Given the description of an element on the screen output the (x, y) to click on. 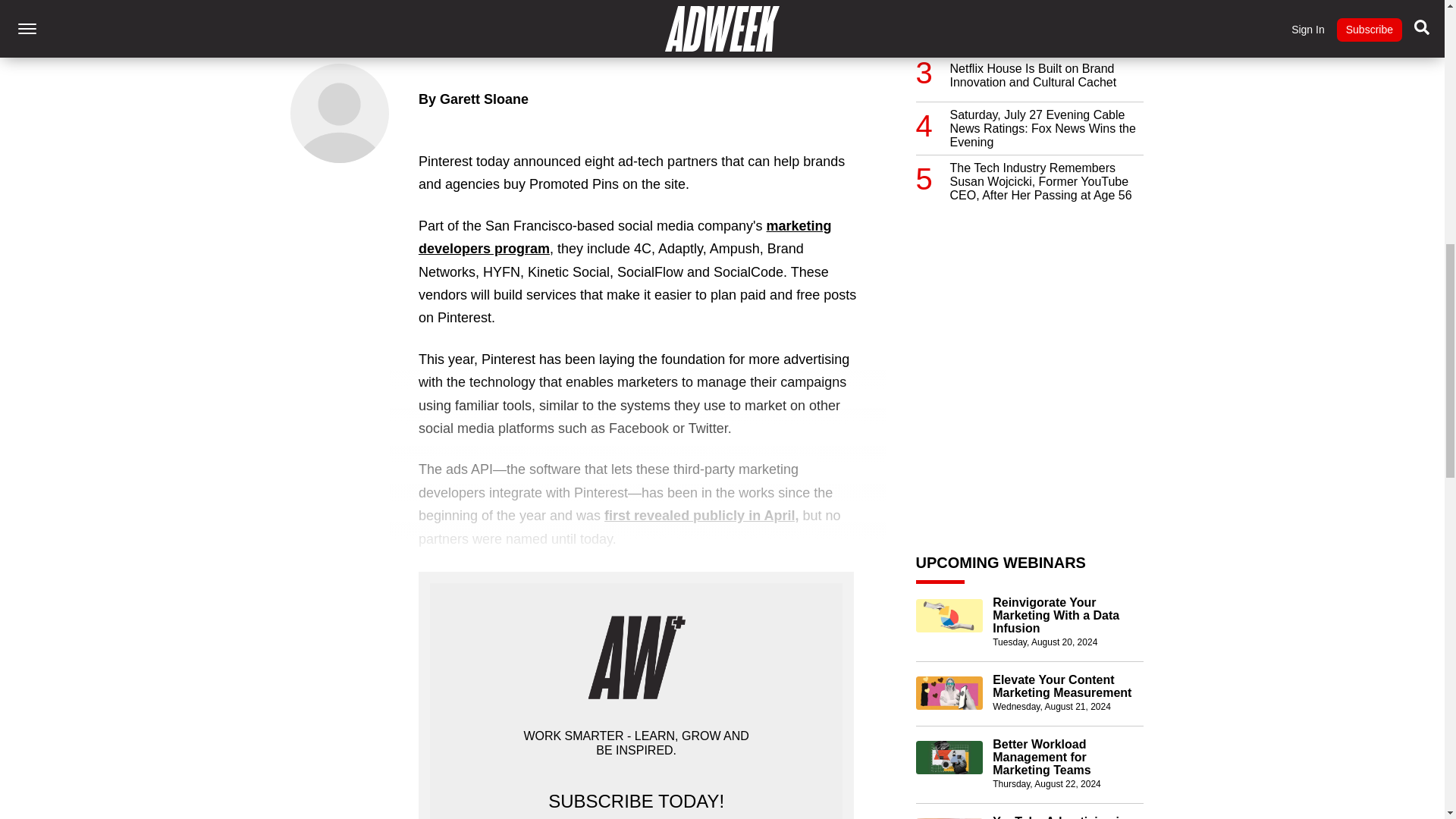
PixabilityWebinar082724Header (948, 818)
Acxiom-Webinar-082024-Header (948, 615)
Garett Sloane (483, 99)
Adobe-Webinar-082224-Header (948, 757)
first revealed publicly in April, (700, 515)
Nativo-Webinar-082124-Header (948, 693)
pinterest-hed-2013.jpg (587, 13)
marketing developers program (625, 237)
